Given the description of an element on the screen output the (x, y) to click on. 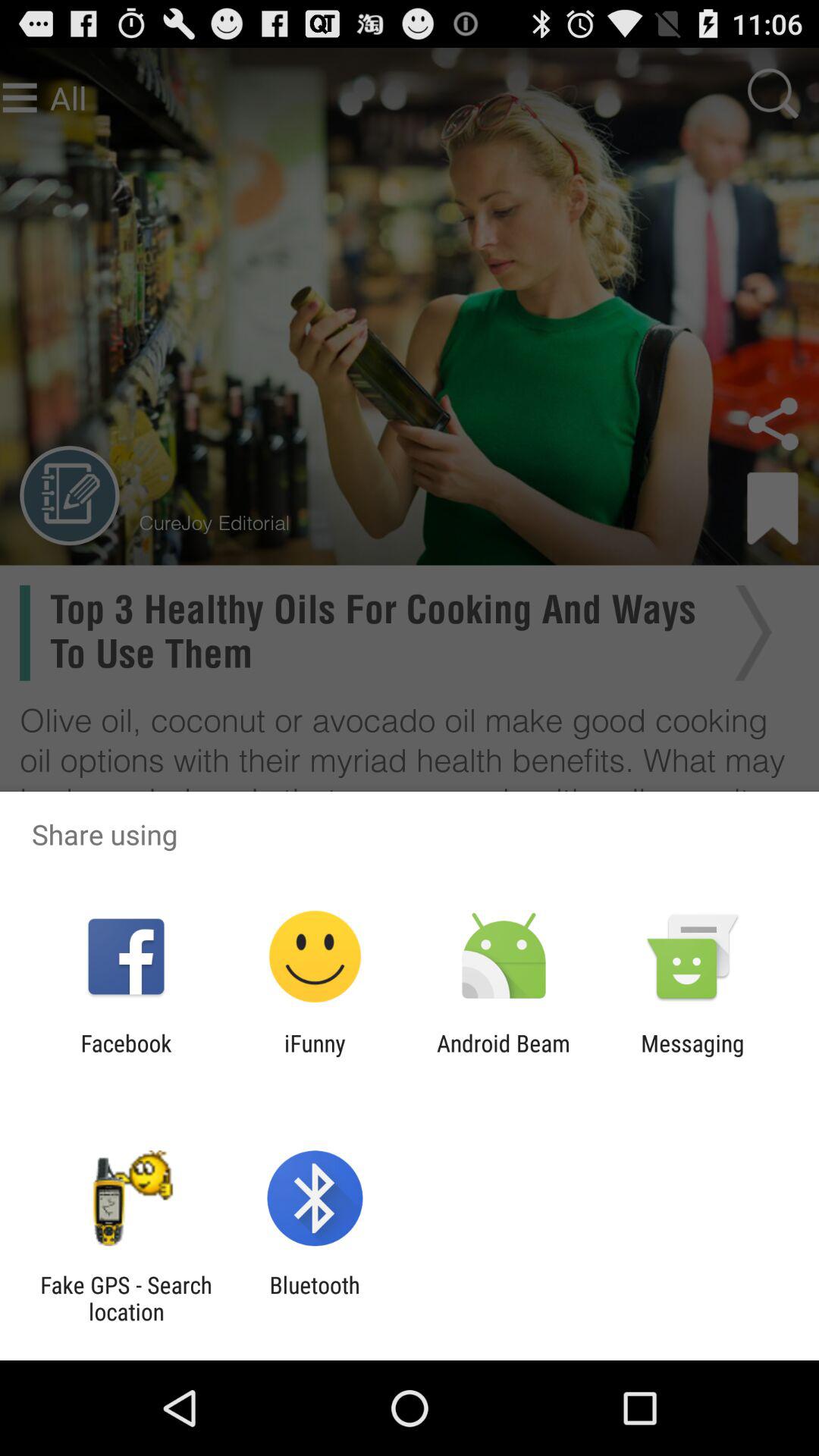
launch the bluetooth item (314, 1298)
